Given the description of an element on the screen output the (x, y) to click on. 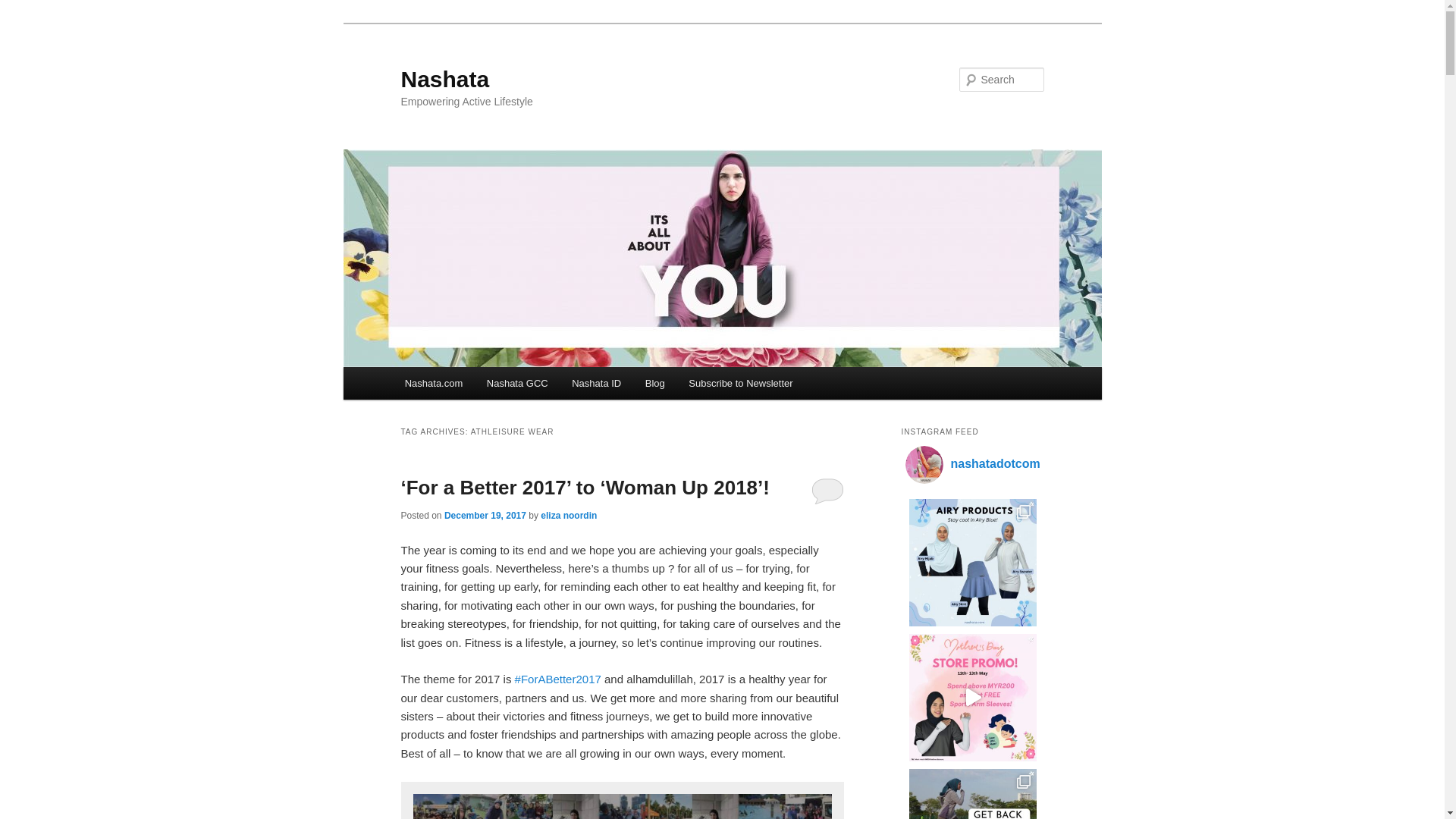
Nashata ID (596, 382)
December 19, 2017 (484, 515)
Nashata.com (433, 382)
2:02 pm (484, 515)
Search (24, 8)
eliza noordin (568, 515)
Blog (655, 382)
Nashata GCC (516, 382)
Subscribe to Newsletter (741, 382)
Nashata (444, 78)
View all posts by eliza noordin (568, 515)
